Given the description of an element on the screen output the (x, y) to click on. 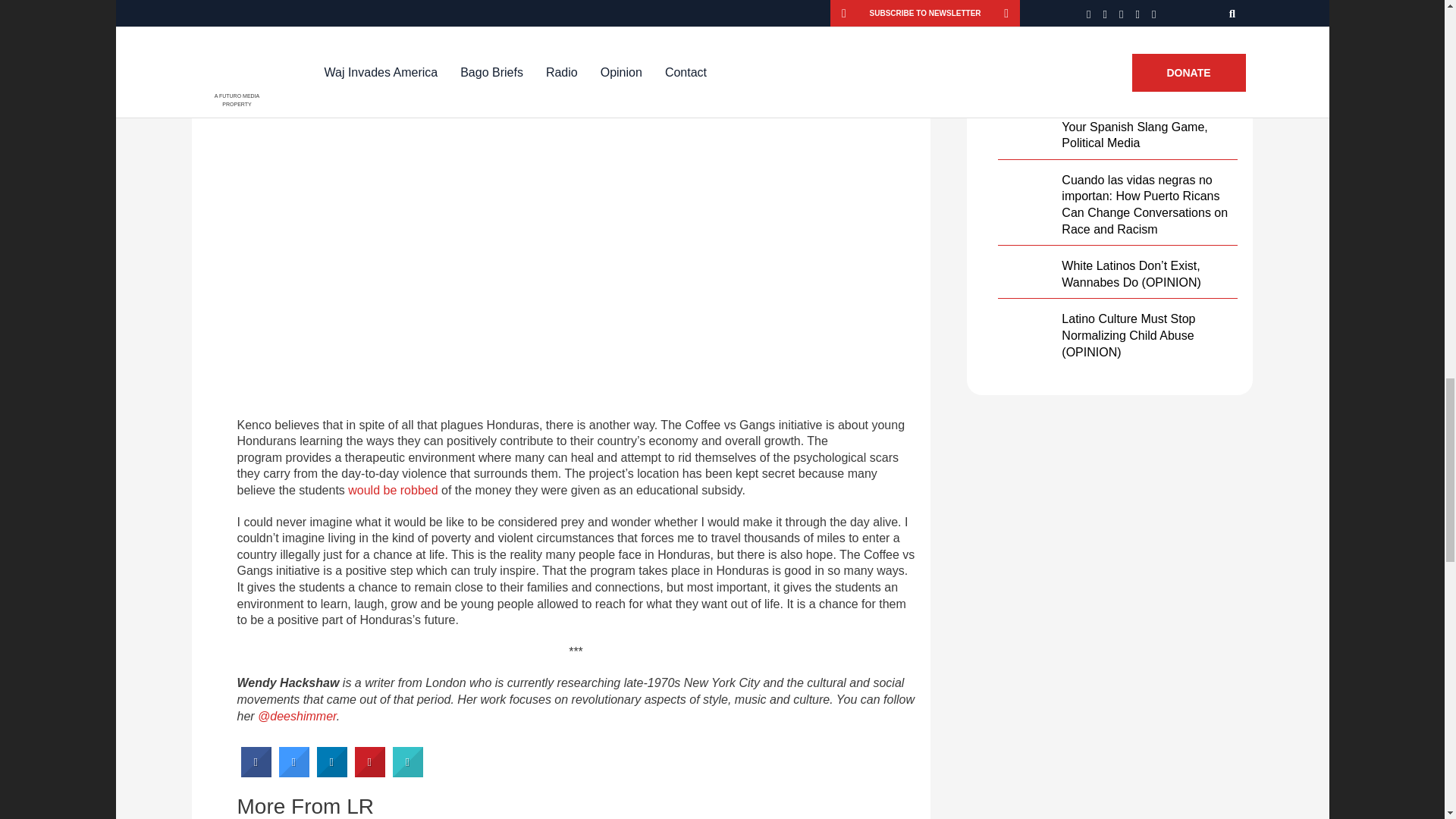
Share to LinkedIn (332, 772)
Print this page (408, 772)
Share on Facebook (255, 772)
Share on Pinterest (370, 772)
Share on Twitter (293, 772)
would be robbed (392, 490)
